Given the description of an element on the screen output the (x, y) to click on. 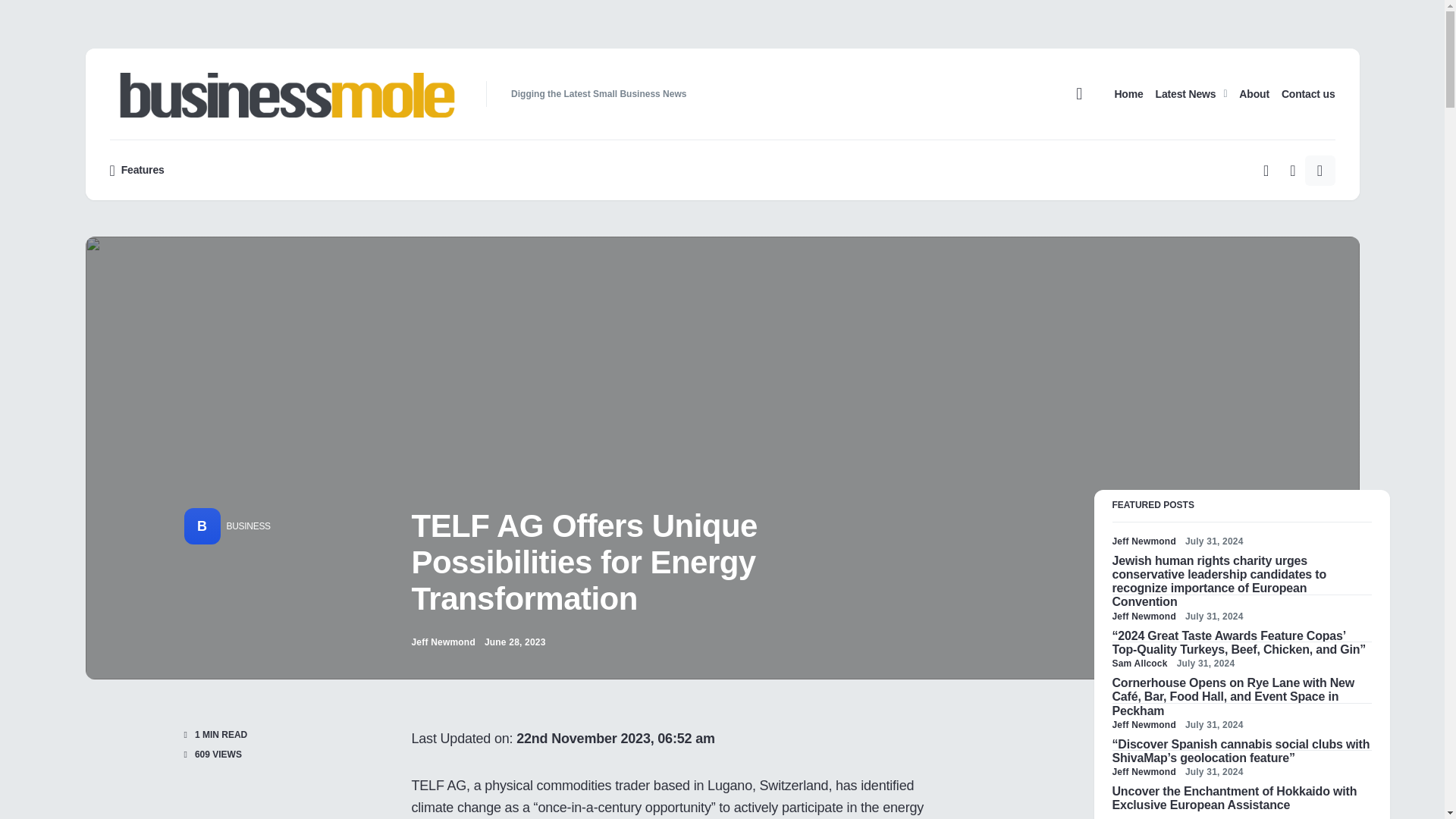
Latest News (1191, 93)
View all posts by Jeff Newmond (1143, 725)
View all posts by Jeff Newmond (1143, 616)
View all posts by Sam Allcock (1139, 663)
View all posts by Jeff Newmond (442, 642)
View all posts by Jeff Newmond (1143, 540)
View all posts by Jeff Newmond (1143, 771)
